Given the description of an element on the screen output the (x, y) to click on. 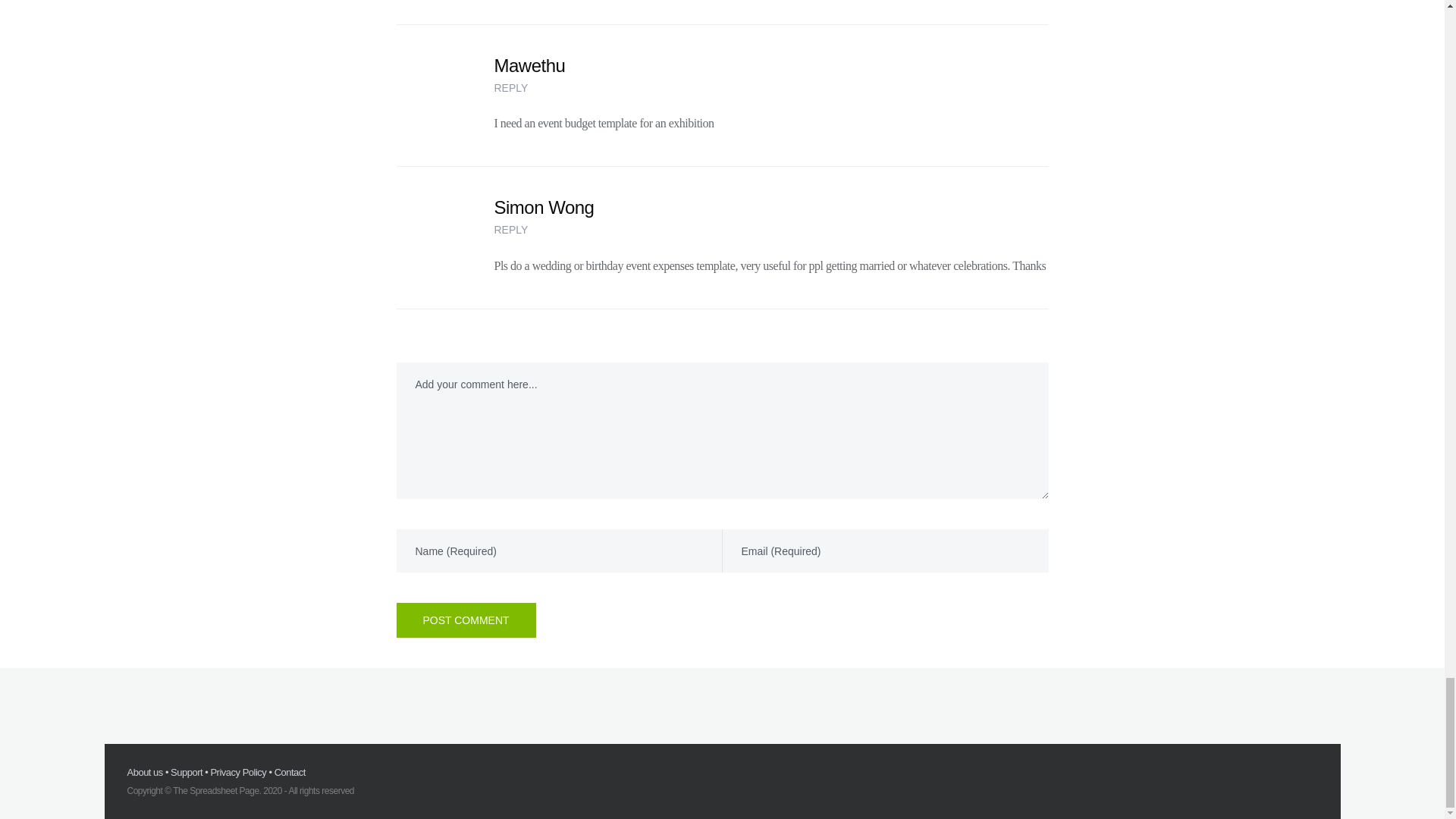
Simon Wong (544, 208)
REPLY (544, 229)
Mawethu (530, 65)
Post Comment (465, 620)
REPLY (530, 87)
